Given the description of an element on the screen output the (x, y) to click on. 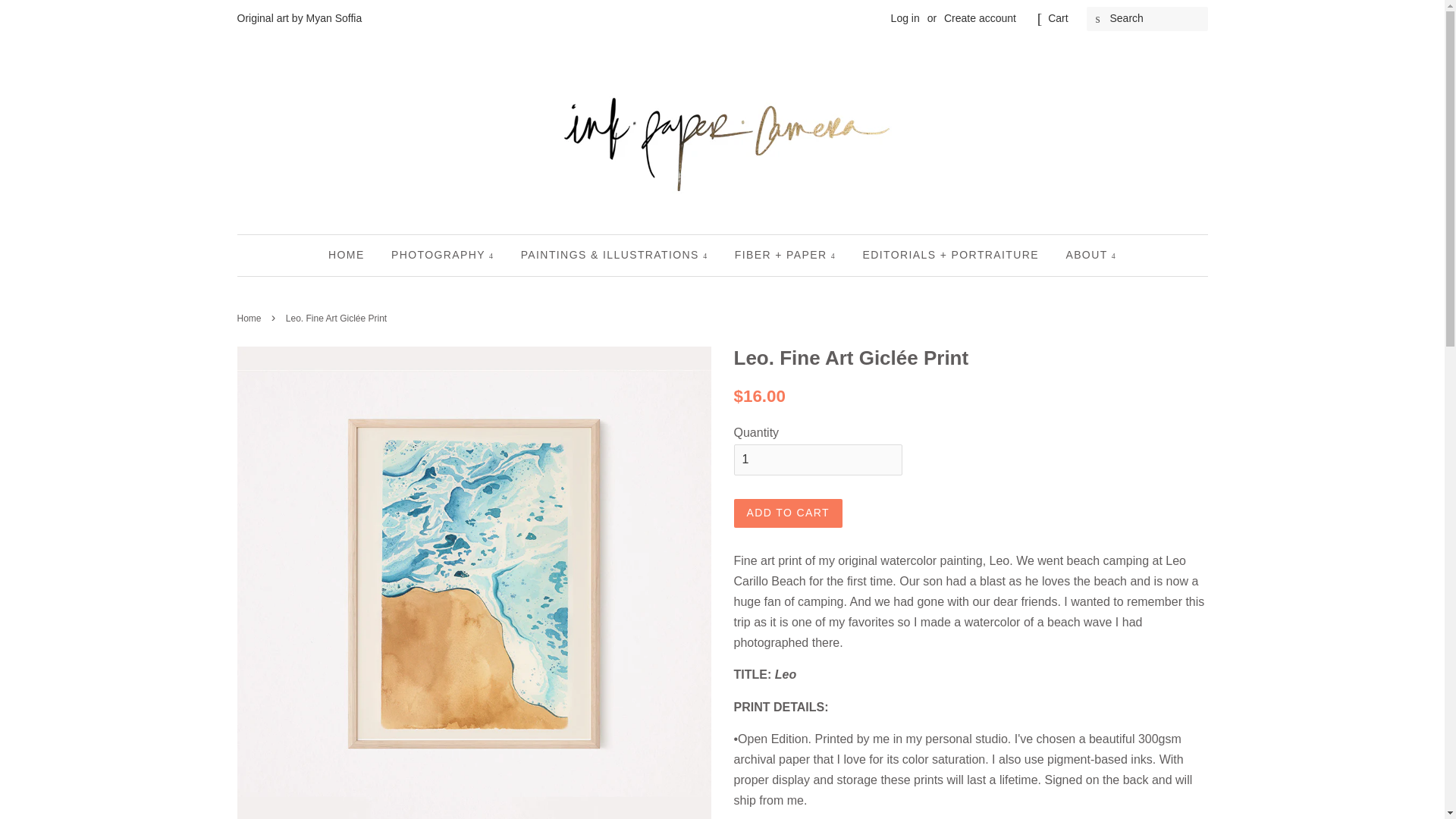
SEARCH (1097, 18)
Cart (1057, 18)
PHOTOGRAPHY (442, 255)
HOME (352, 255)
1 (817, 459)
Create account (979, 18)
Back to the frontpage (249, 317)
Log in (905, 18)
